Given the description of an element on the screen output the (x, y) to click on. 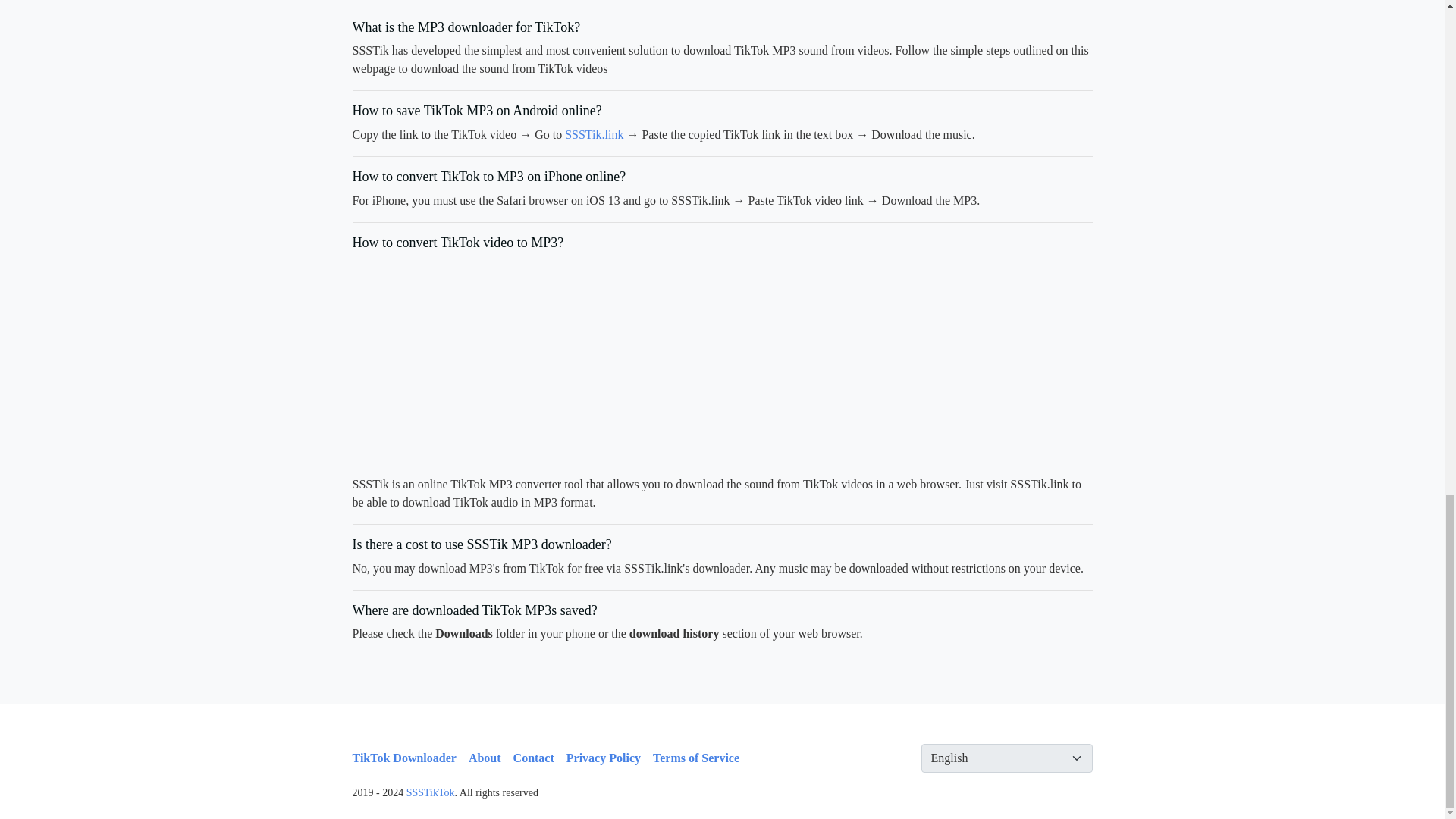
TikTok Downloader (403, 757)
SSSTikTok (430, 792)
About (484, 757)
TikTok Downloader (403, 757)
About (484, 757)
Contact (533, 757)
Privacy Policy (603, 757)
Terms of Service (695, 757)
SSSTik.link (593, 133)
Contact (533, 757)
SSSTikTok (430, 792)
Terms of Service (695, 757)
Privacy Policy (603, 757)
